Given the description of an element on the screen output the (x, y) to click on. 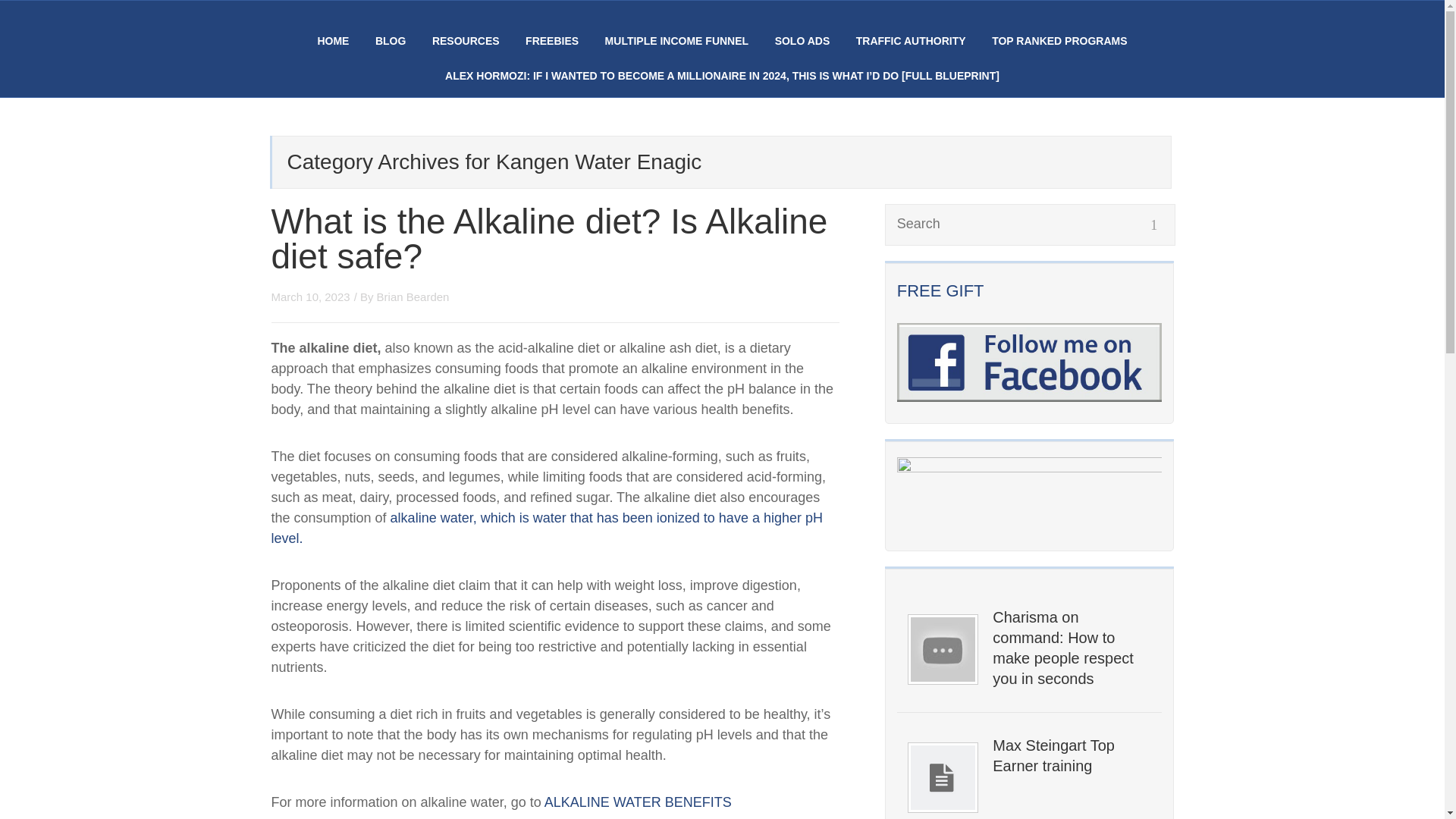
What is the Alkaline diet? Is Alkaline diet safe? (549, 238)
Max Steingart Top Earner training (1071, 755)
FREEBIES (551, 40)
TOP RANKED PROGRAMS (1058, 40)
HOME (333, 40)
BLOG (390, 40)
Brian Bearden (413, 296)
TRAFFIC AUTHORITY (911, 40)
ALKALINE WATER BENEFITS (638, 801)
RESOURCES (465, 40)
SOLO ADS (801, 40)
MULTIPLE INCOME FUNNEL (677, 40)
